Given the description of an element on the screen output the (x, y) to click on. 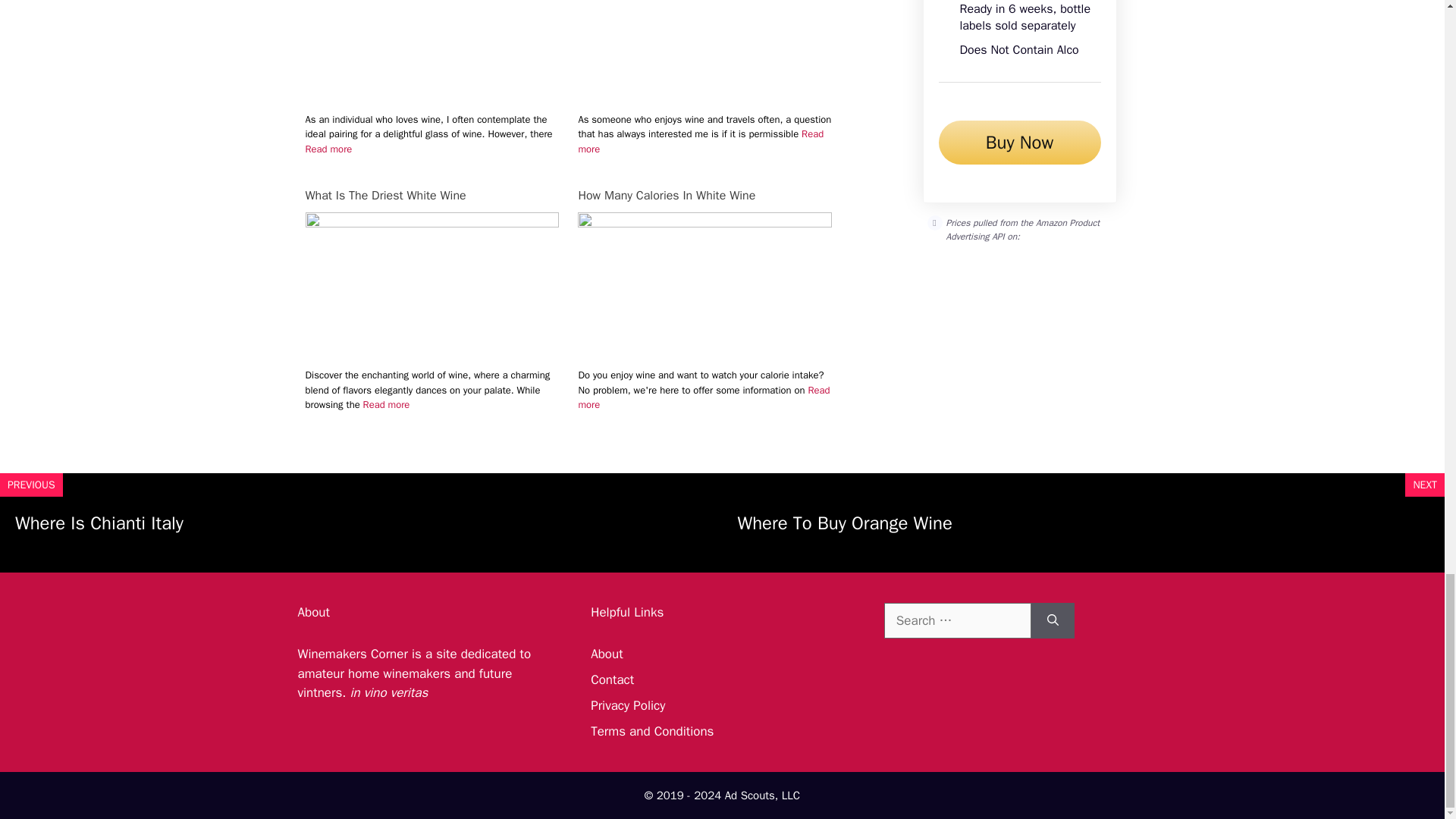
What Is The Driest White Wine (431, 195)
Read more (386, 404)
What Is The Driest White Wine (431, 222)
What Is The Driest White Wine (431, 195)
Search for: (956, 620)
How Many Calories In White Wine (704, 195)
Read more (701, 141)
How Many Calories In White Wine (704, 222)
How Many Calories In White Wine (704, 195)
Read more (328, 148)
